Given the description of an element on the screen output the (x, y) to click on. 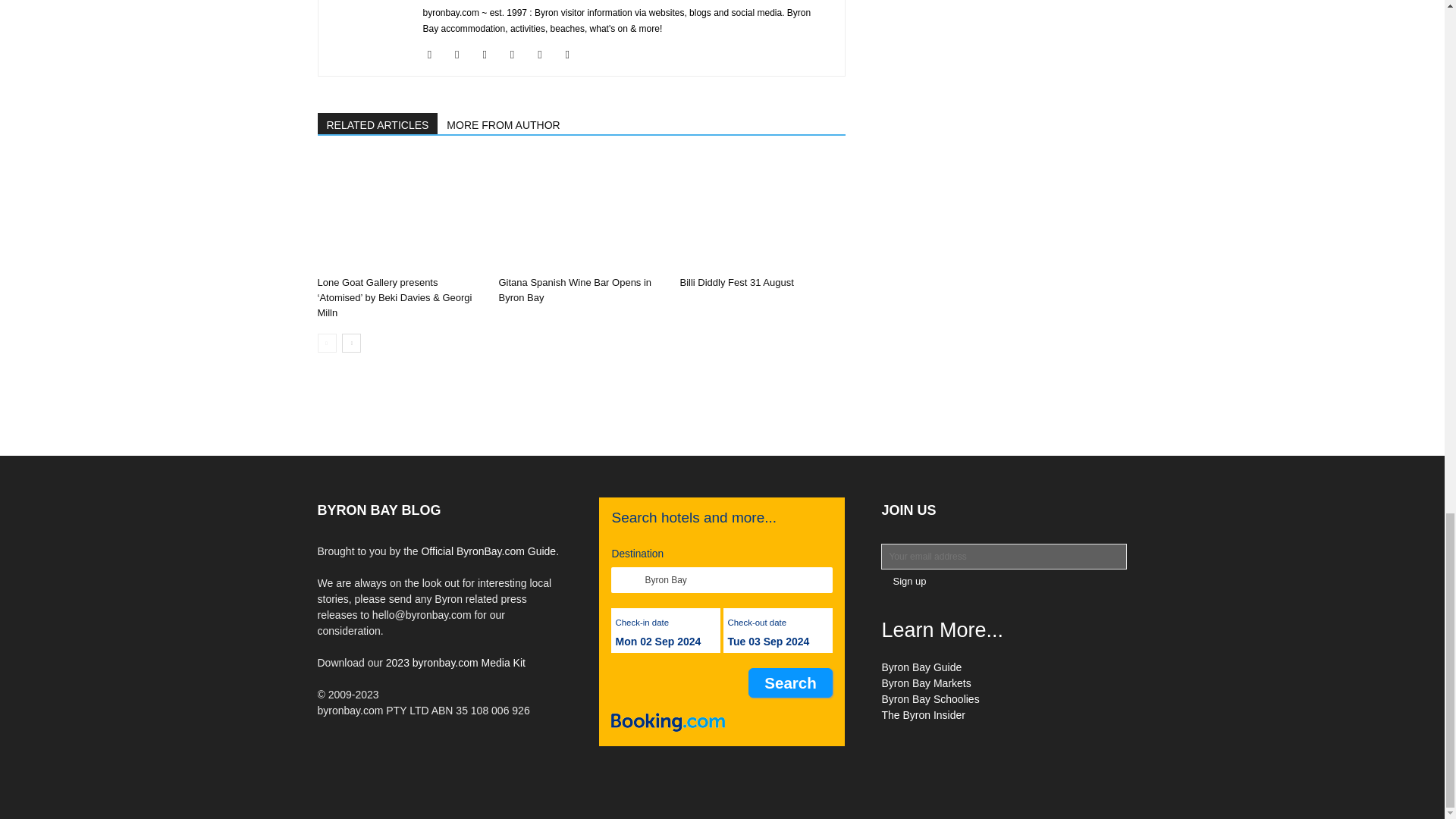
Pinterest (489, 54)
Search (790, 682)
Byron Bay (721, 579)
Instagram (462, 54)
Facebook (435, 54)
Sign up (908, 580)
